Given the description of an element on the screen output the (x, y) to click on. 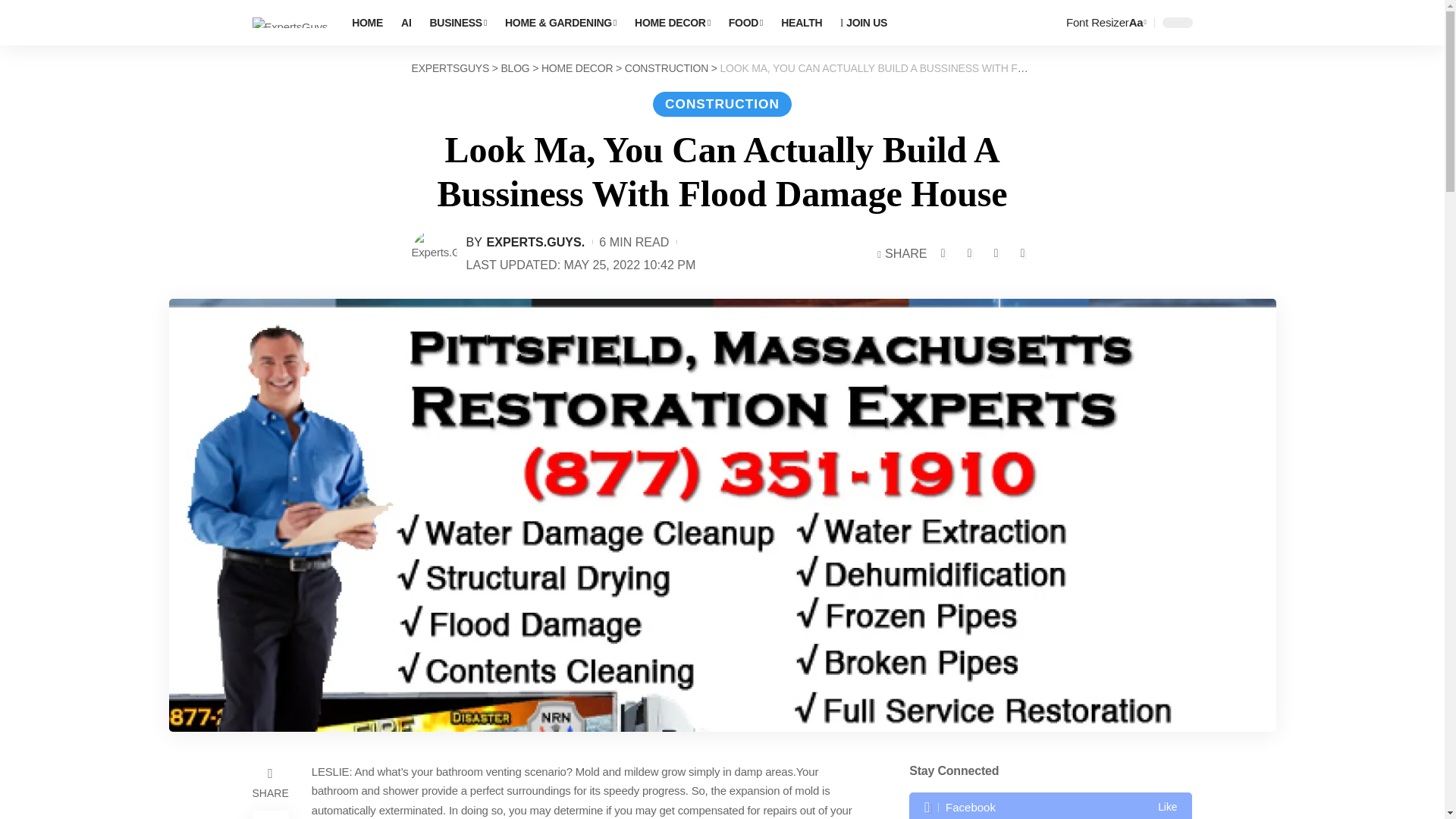
AI (405, 22)
HOME (366, 22)
ExpertsGuys (289, 22)
HOME DECOR (672, 22)
BUSINESS (458, 22)
